Given the description of an element on the screen output the (x, y) to click on. 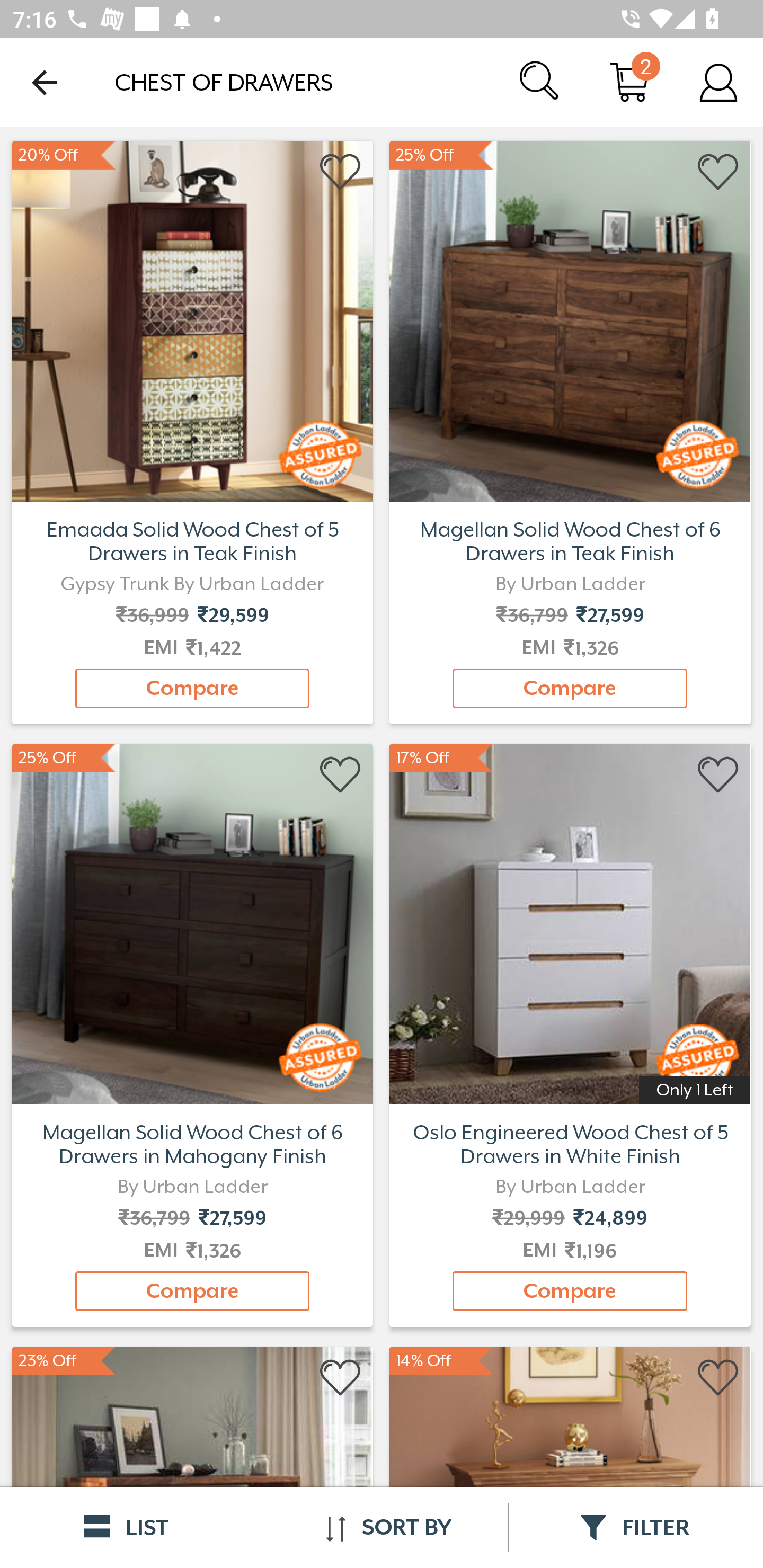
Navigate up (44, 82)
Search (540, 81)
Cart (629, 81)
Account Details (718, 81)
224+ options Wardrobes Starting from  ₹8,565 (191, 318)
221+ options Bedside Tables Starting from  ₹1,349 (570, 318)
 (341, 172)
 (718, 172)
Compare (192, 687)
Compare (569, 687)
 (341, 775)
 (718, 775)
Compare (192, 1290)
Compare (569, 1290)
 (341, 1377)
 (718, 1377)
 LIST (127, 1527)
SORT BY (381, 1527)
 FILTER (635, 1527)
